Given the description of an element on the screen output the (x, y) to click on. 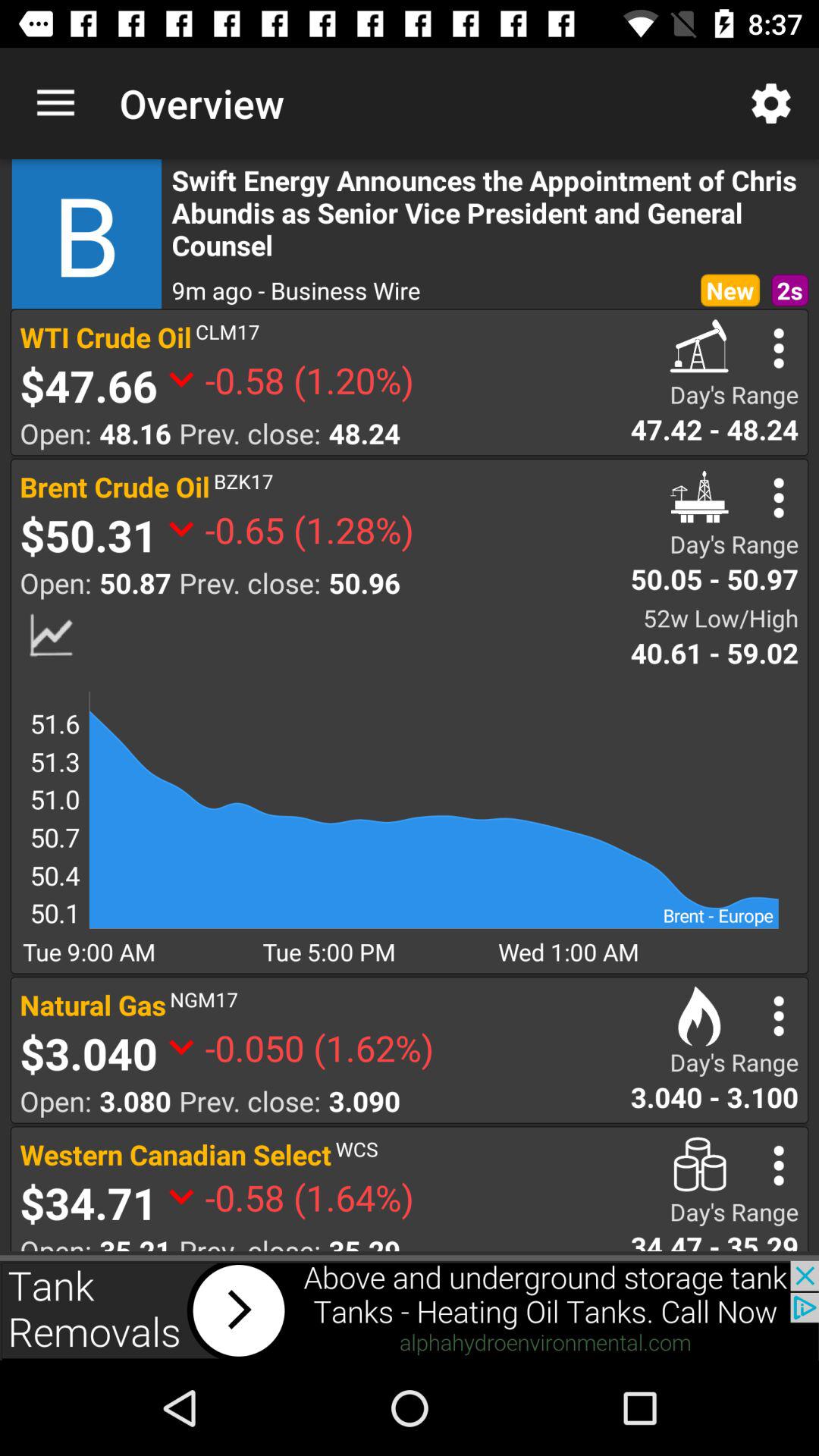
advertisement bar (409, 1310)
